Given the description of an element on the screen output the (x, y) to click on. 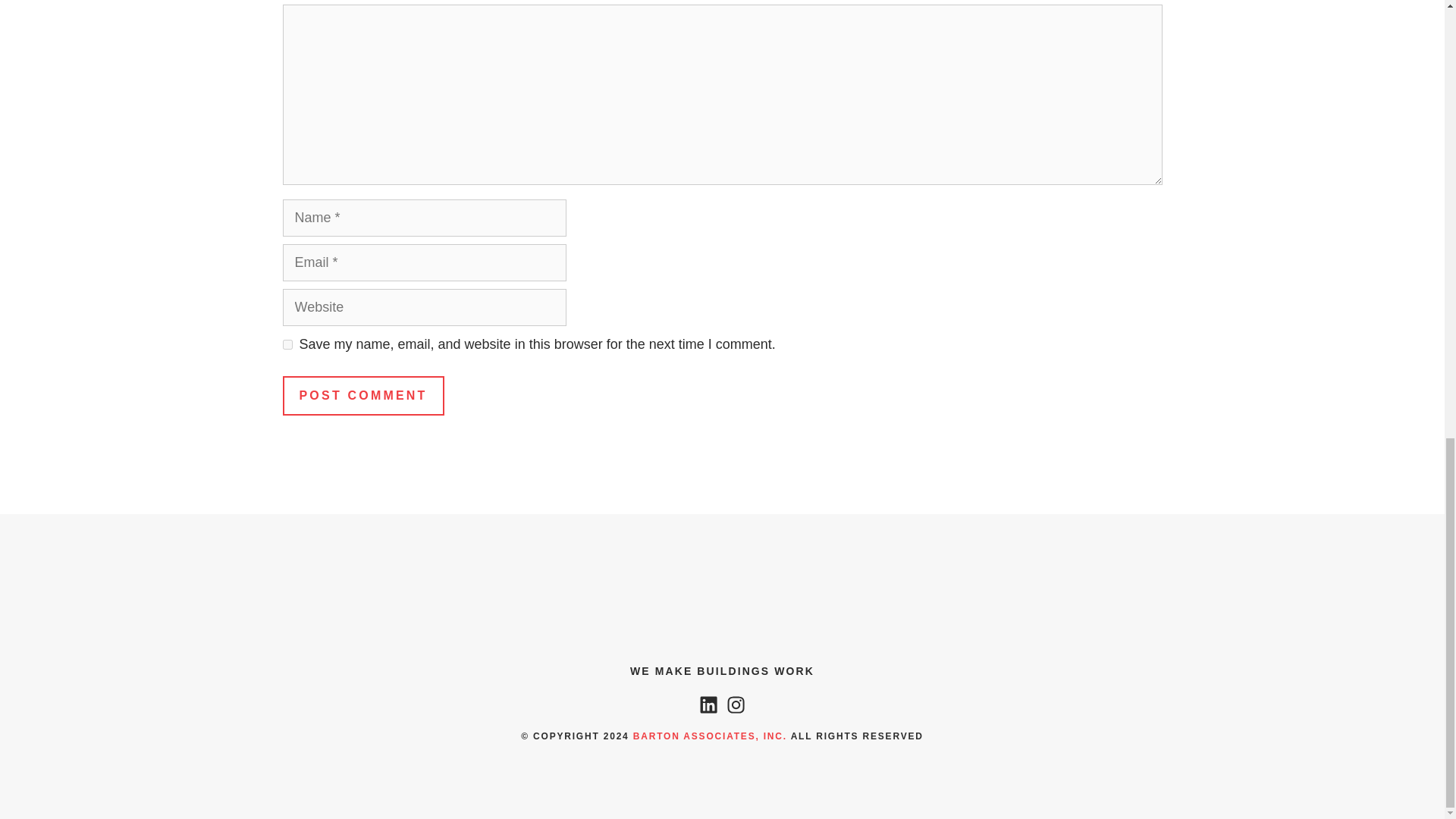
BARTON ASSOCIATES, INC. (710, 736)
Post Comment (363, 395)
yes (287, 344)
Post Comment (363, 395)
